Given the description of an element on the screen output the (x, y) to click on. 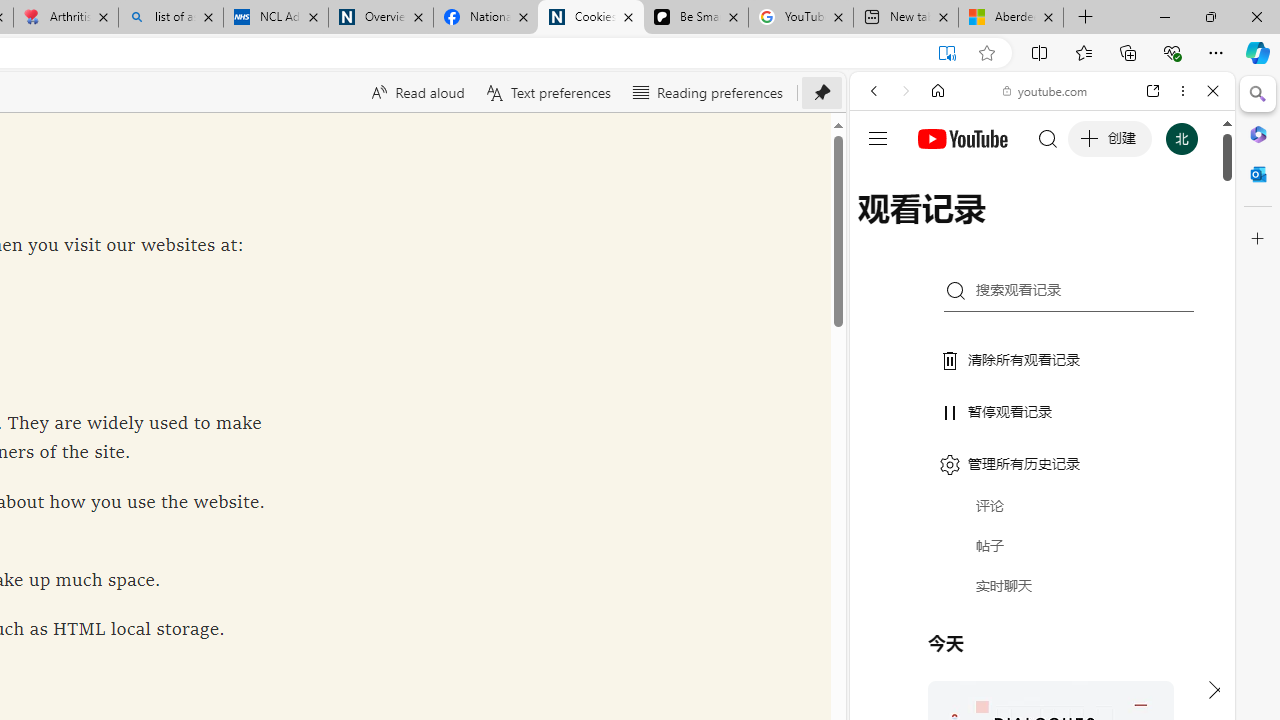
Cookies (590, 17)
